Given the description of an element on the screen output the (x, y) to click on. 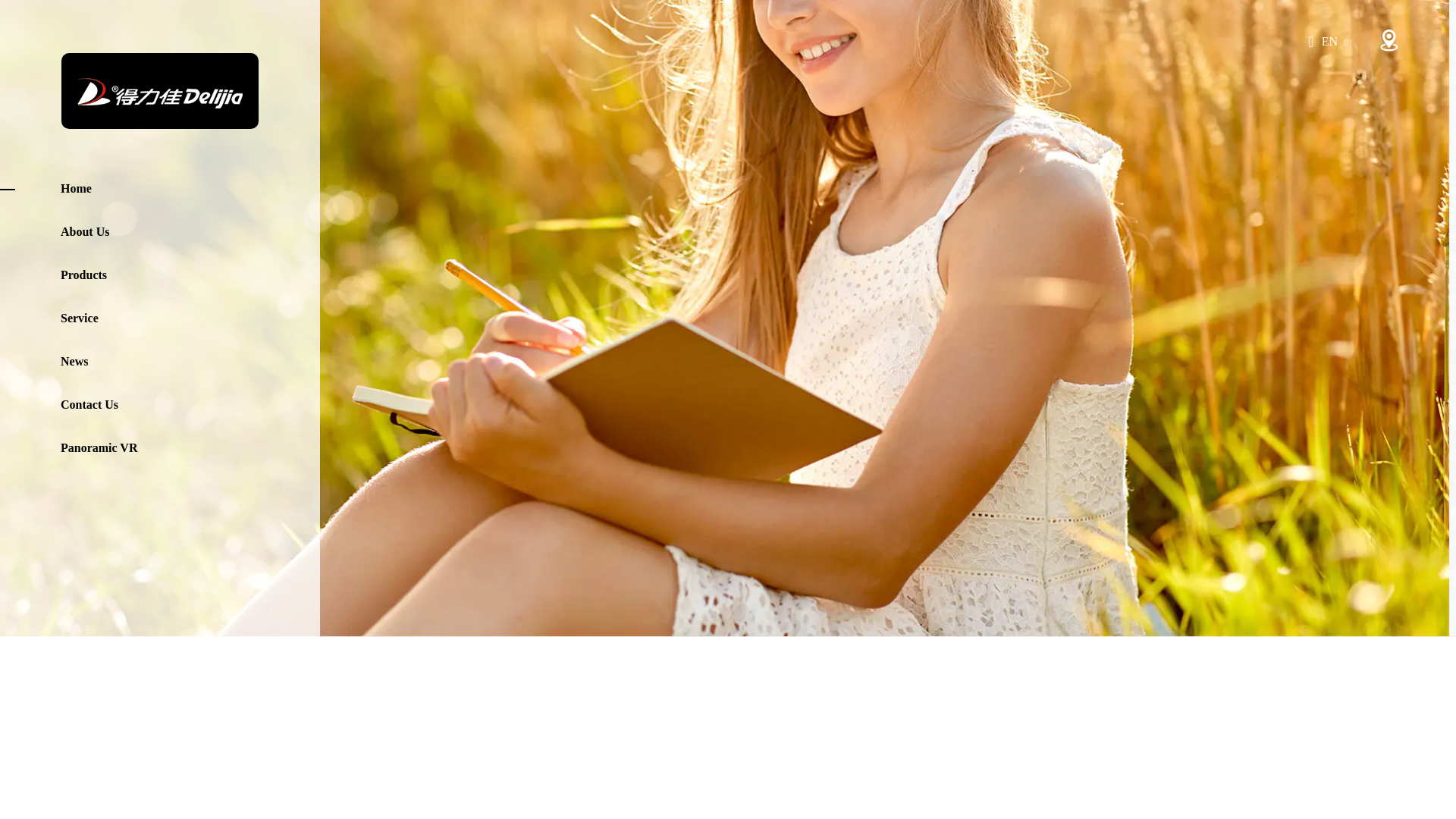
Home (190, 188)
Panoramic VR (190, 447)
Service (190, 318)
Contact Us (190, 404)
About Us (190, 231)
News (190, 361)
Products (190, 274)
